Given the description of an element on the screen output the (x, y) to click on. 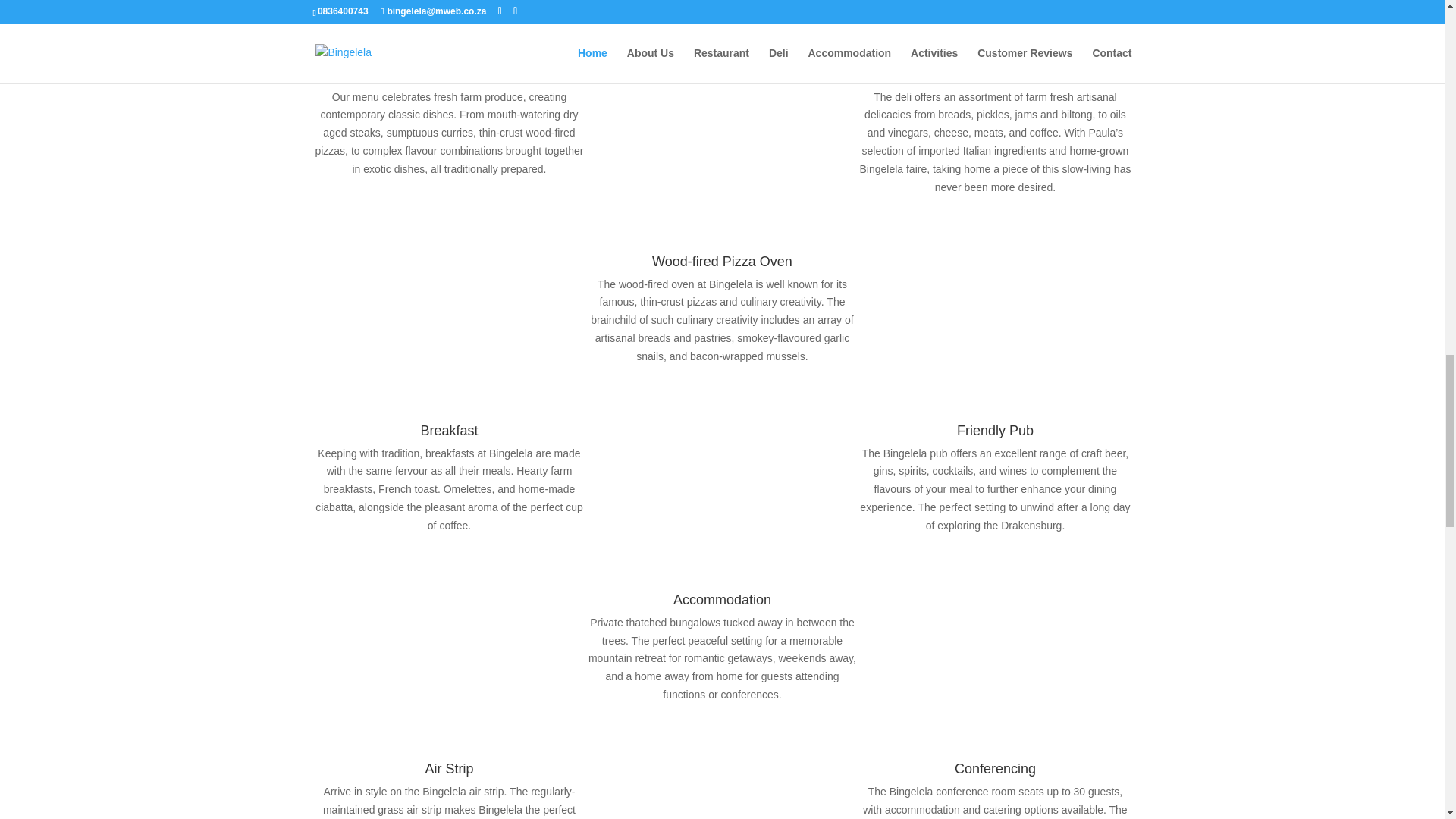
Page 2 (722, 659)
Page 2 (449, 800)
Page 2 (722, 321)
Page 1 (449, 133)
Page 2 (995, 490)
Page 1 (995, 142)
Page 2 (449, 490)
Page 2 (995, 800)
